Given the description of an element on the screen output the (x, y) to click on. 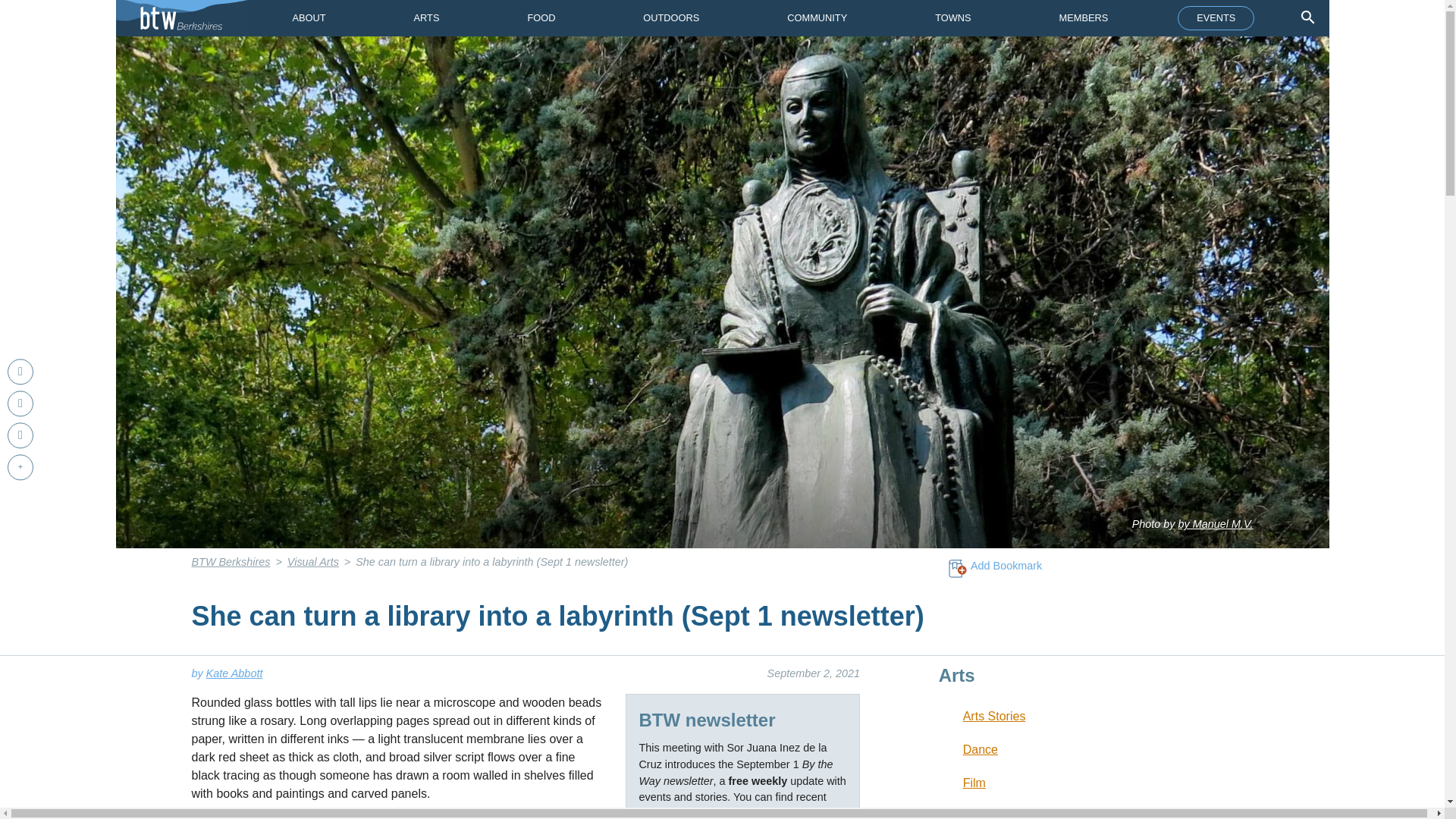
Email this  (20, 434)
Share this on Facebook (20, 371)
Search Site (1307, 17)
OUTDOORS (670, 18)
COMMUNITY (816, 18)
Add this to LinkedIn (20, 403)
MEMBERS (1083, 18)
FOOD (540, 18)
TOWNS (952, 18)
More share links (20, 466)
ABOUT (308, 18)
ARTS (427, 18)
